Given the description of an element on the screen output the (x, y) to click on. 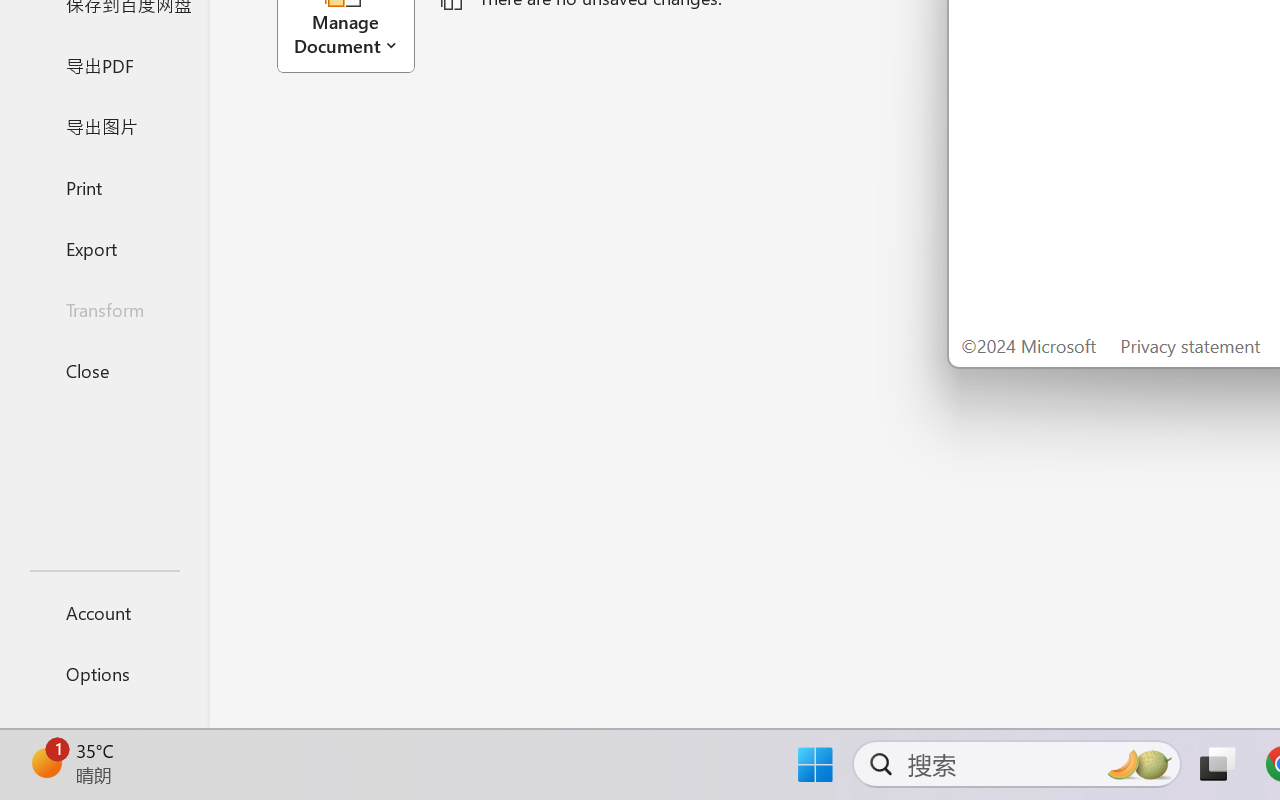
Options (104, 673)
